Given the description of an element on the screen output the (x, y) to click on. 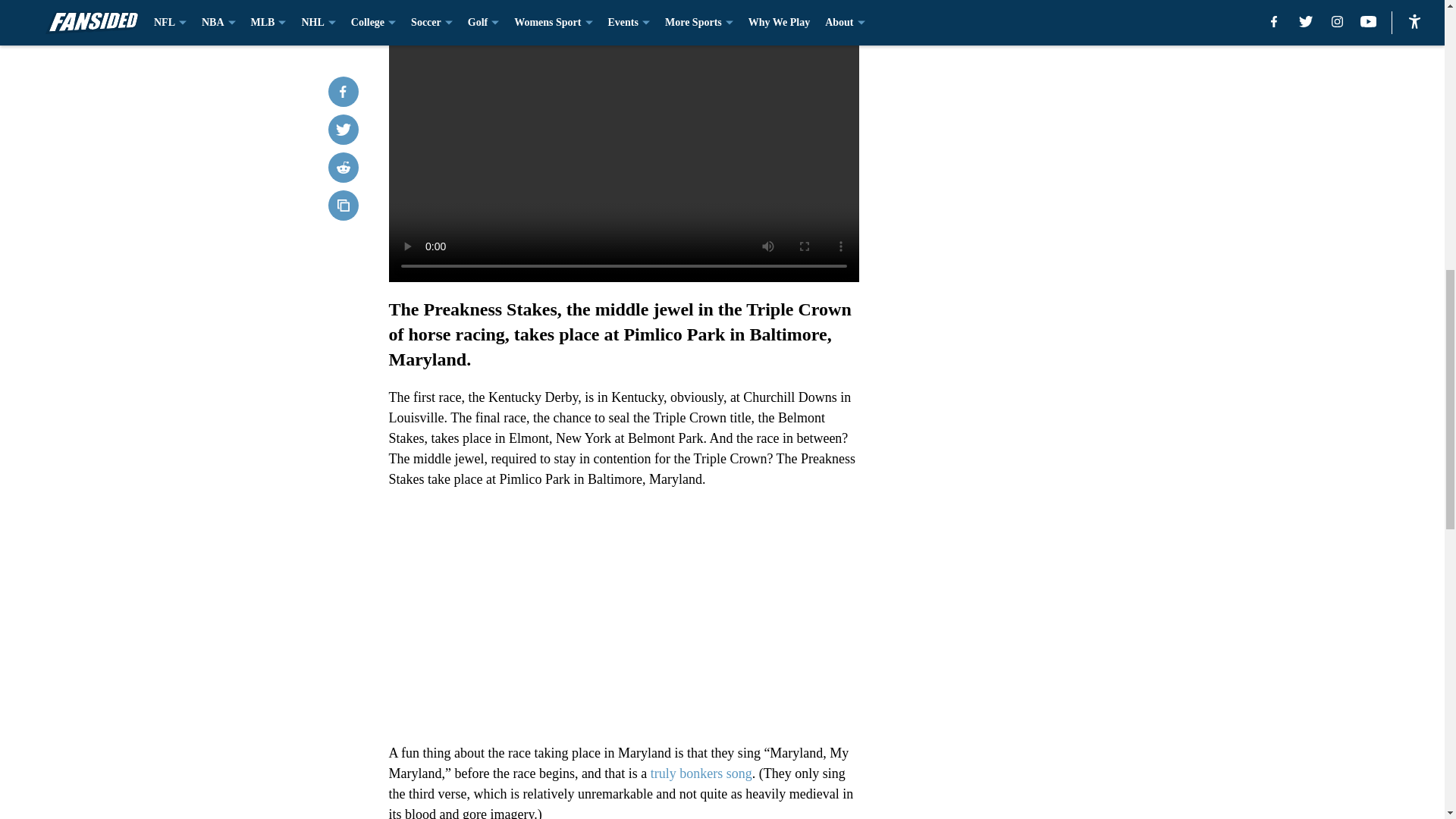
3rd party ad content (1047, 113)
3rd party ad content (1047, 332)
